Given the description of an element on the screen output the (x, y) to click on. 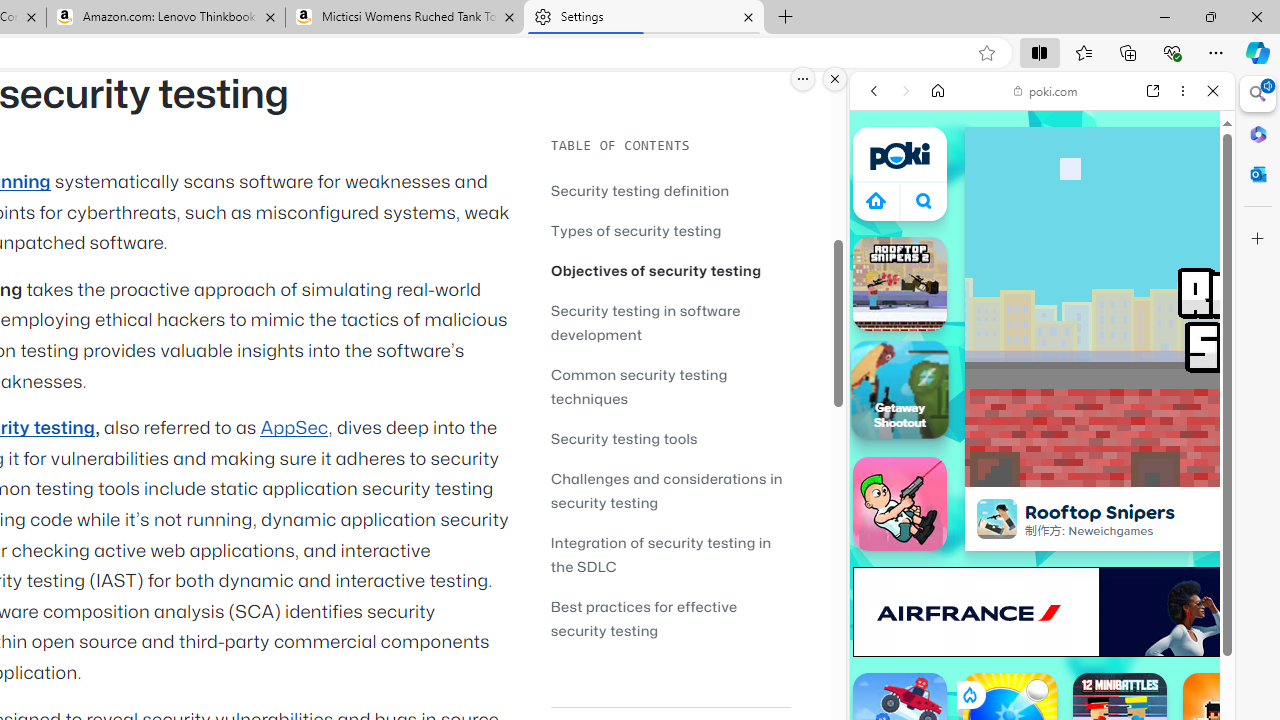
Bullet Bros (899, 503)
WEB   (882, 228)
Getaway Shootout (899, 389)
Sports Games (1042, 666)
Shooting Games (1042, 519)
Show More Shooting Games (1164, 521)
Rooftop Snipers (996, 518)
More options. (803, 79)
Challenges and considerations in security testing (666, 490)
Io Games (1042, 617)
